Given the description of an element on the screen output the (x, y) to click on. 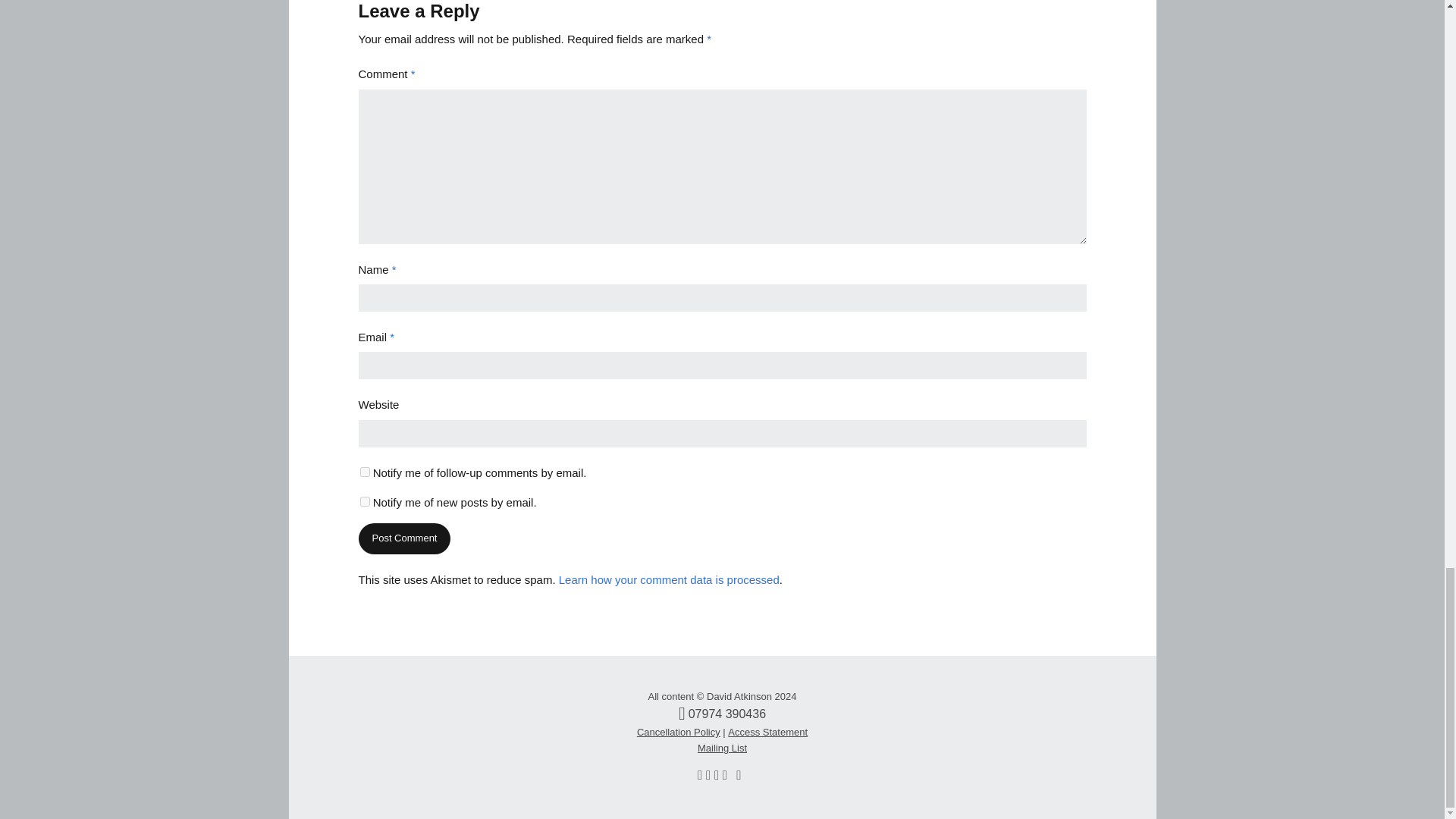
subscribe (364, 501)
Post Comment (403, 538)
subscribe (364, 471)
